Given the description of an element on the screen output the (x, y) to click on. 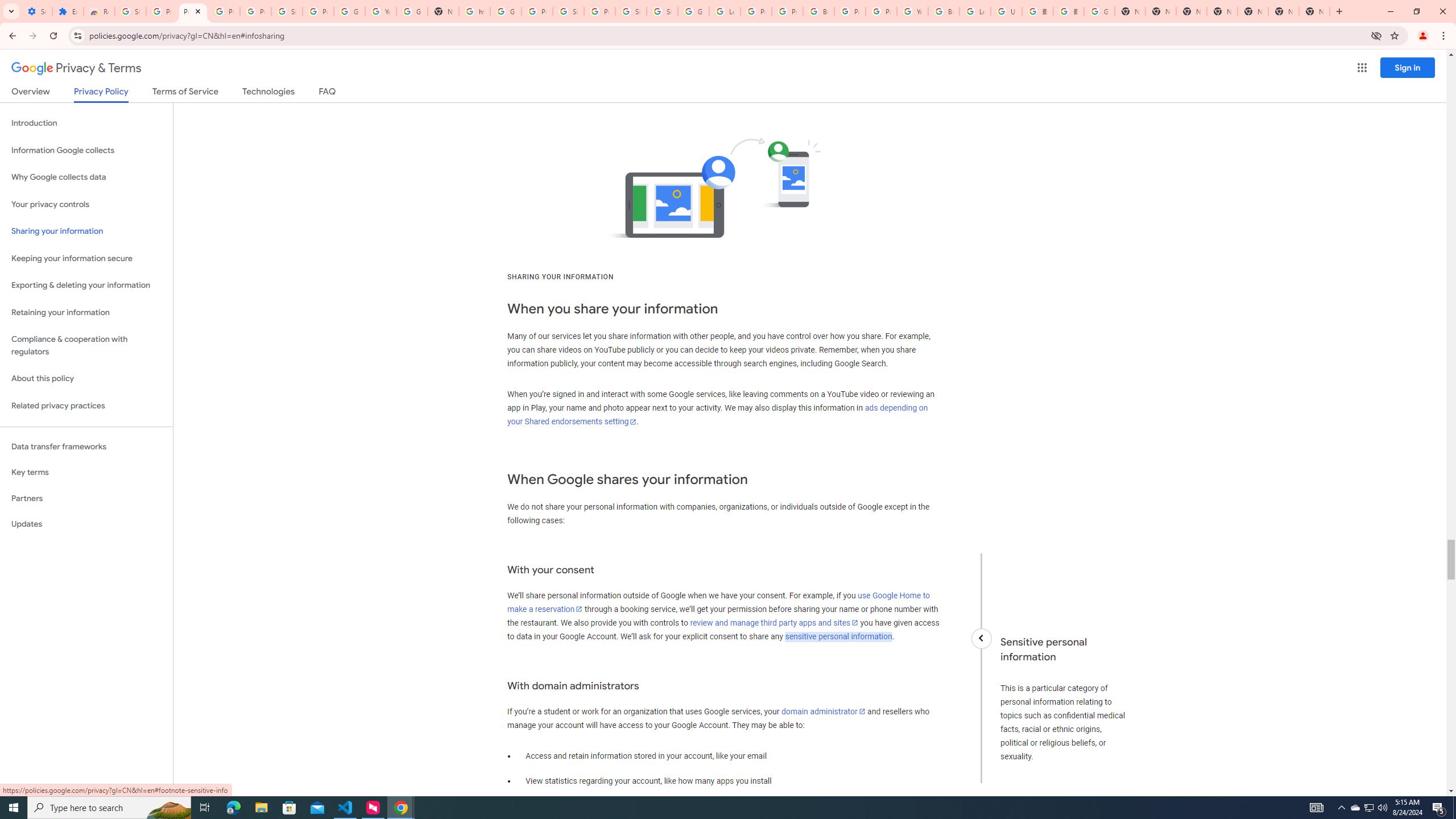
Key terms (86, 472)
sensitive personal information (838, 636)
Sign in - Google Accounts (568, 11)
Keeping your information secure (86, 258)
Exporting & deleting your information (86, 284)
Related privacy practices (86, 405)
